Given the description of an element on the screen output the (x, y) to click on. 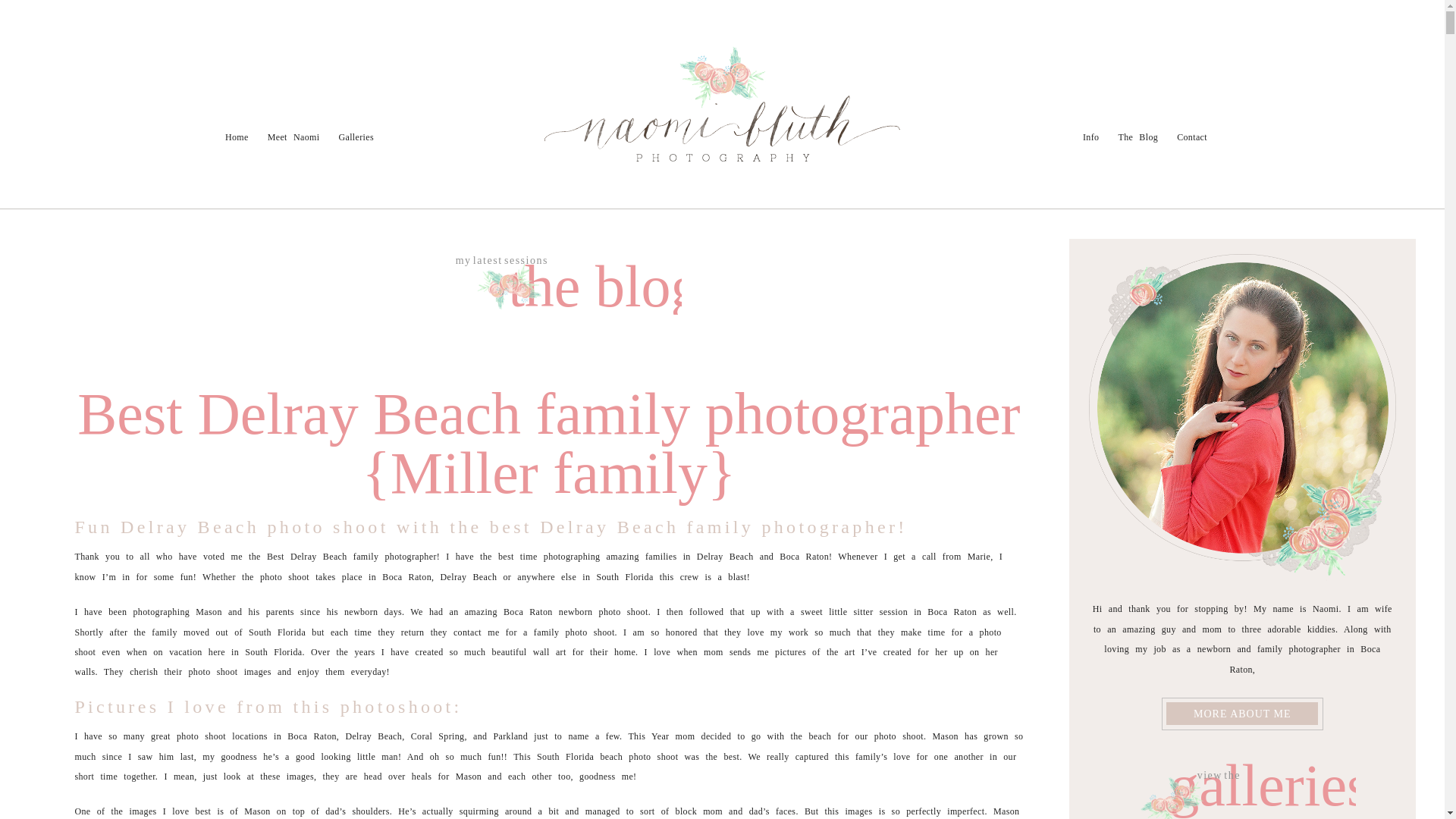
Info (96, 102)
The Blog (140, 102)
Info (1091, 136)
Meet Naomi (293, 136)
Contact (190, 102)
The Blog (1137, 136)
Contact (1191, 136)
Home (236, 136)
